Given the description of an element on the screen output the (x, y) to click on. 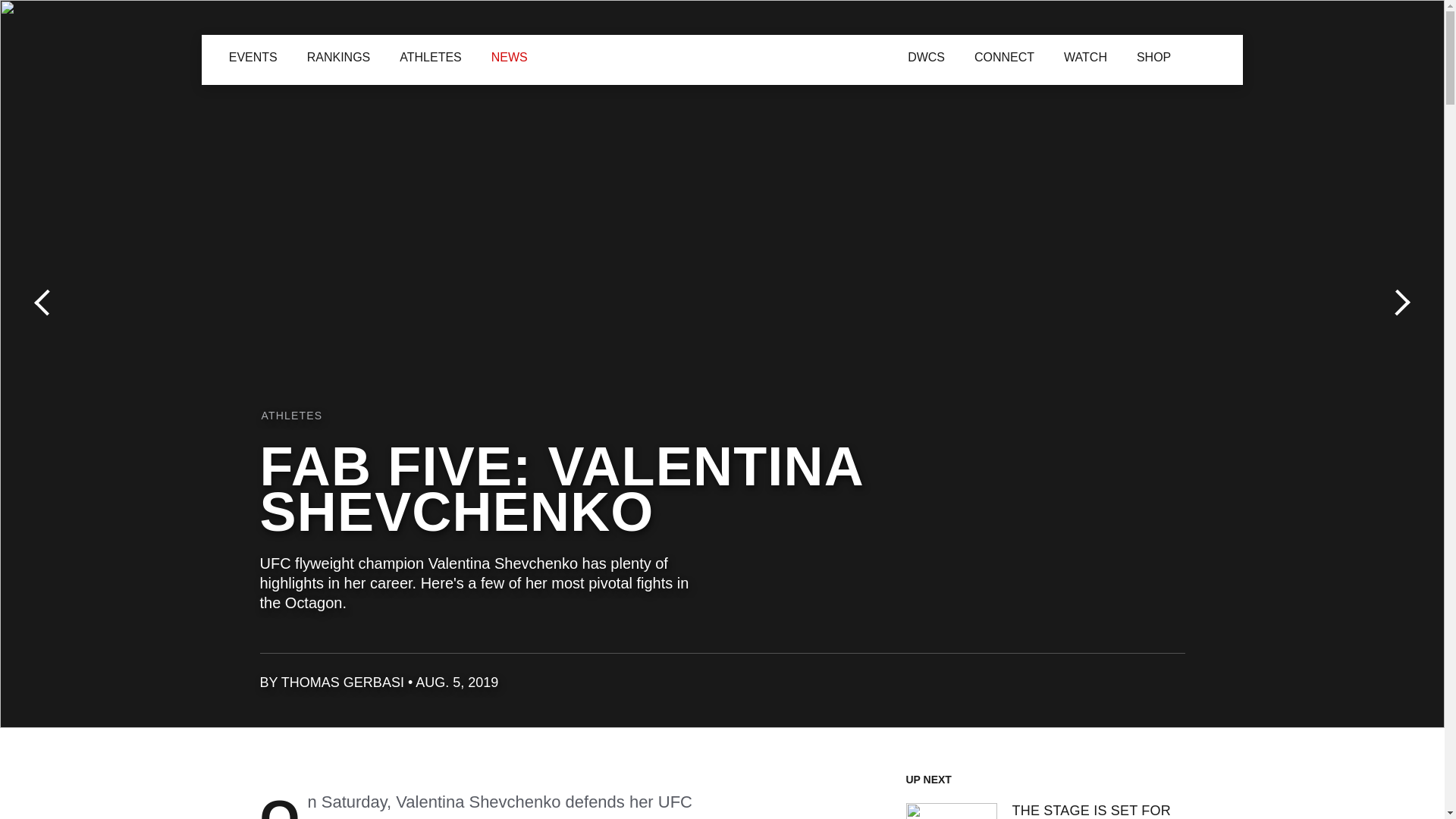
Skip to main content (9, 9)
SHOP (794, 53)
Dana White's Contender Series Returns! (838, 55)
License UFC Video Content (913, 688)
